Given the description of an element on the screen output the (x, y) to click on. 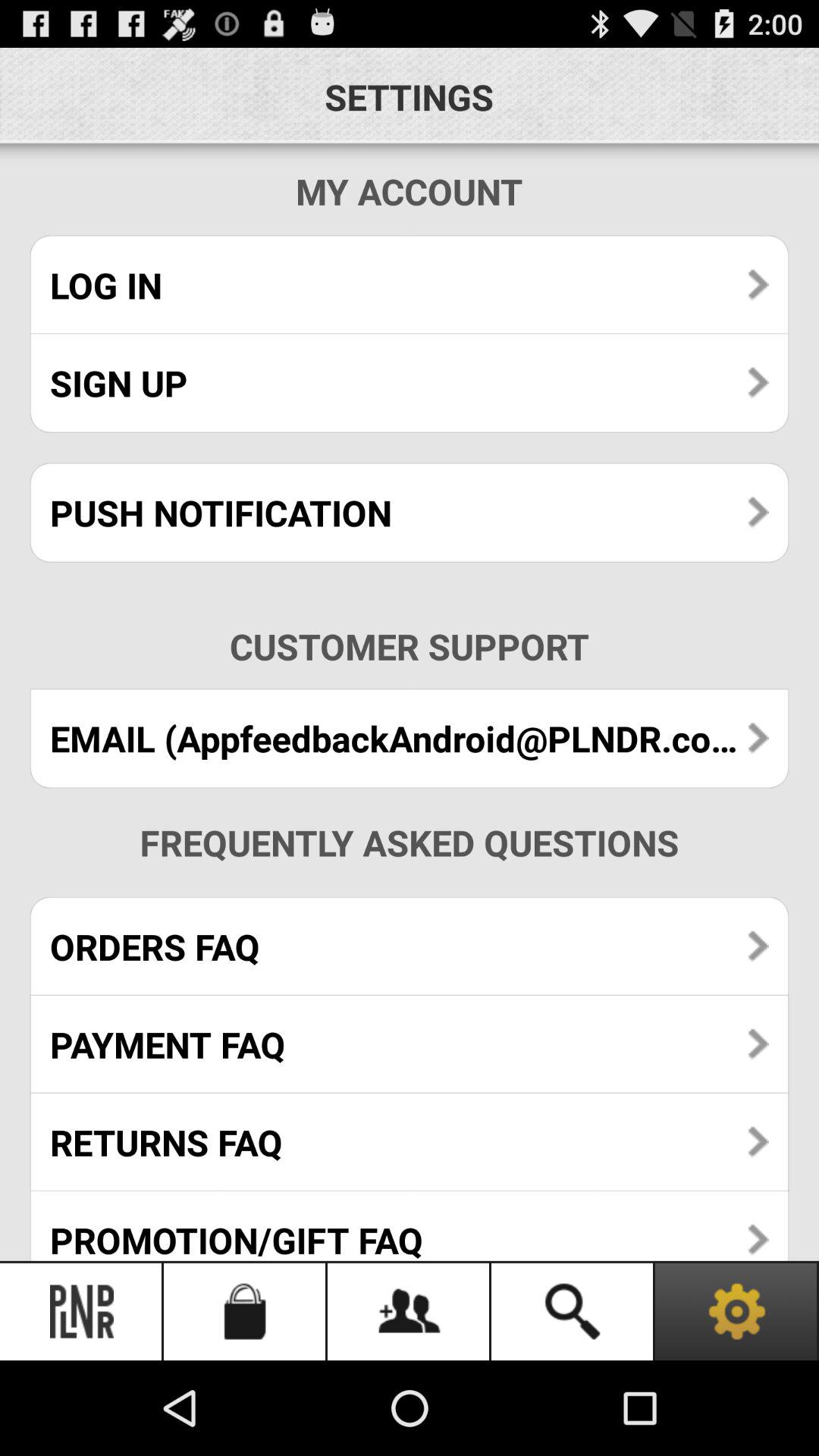
choose the item below the customer support app (409, 738)
